Given the description of an element on the screen output the (x, y) to click on. 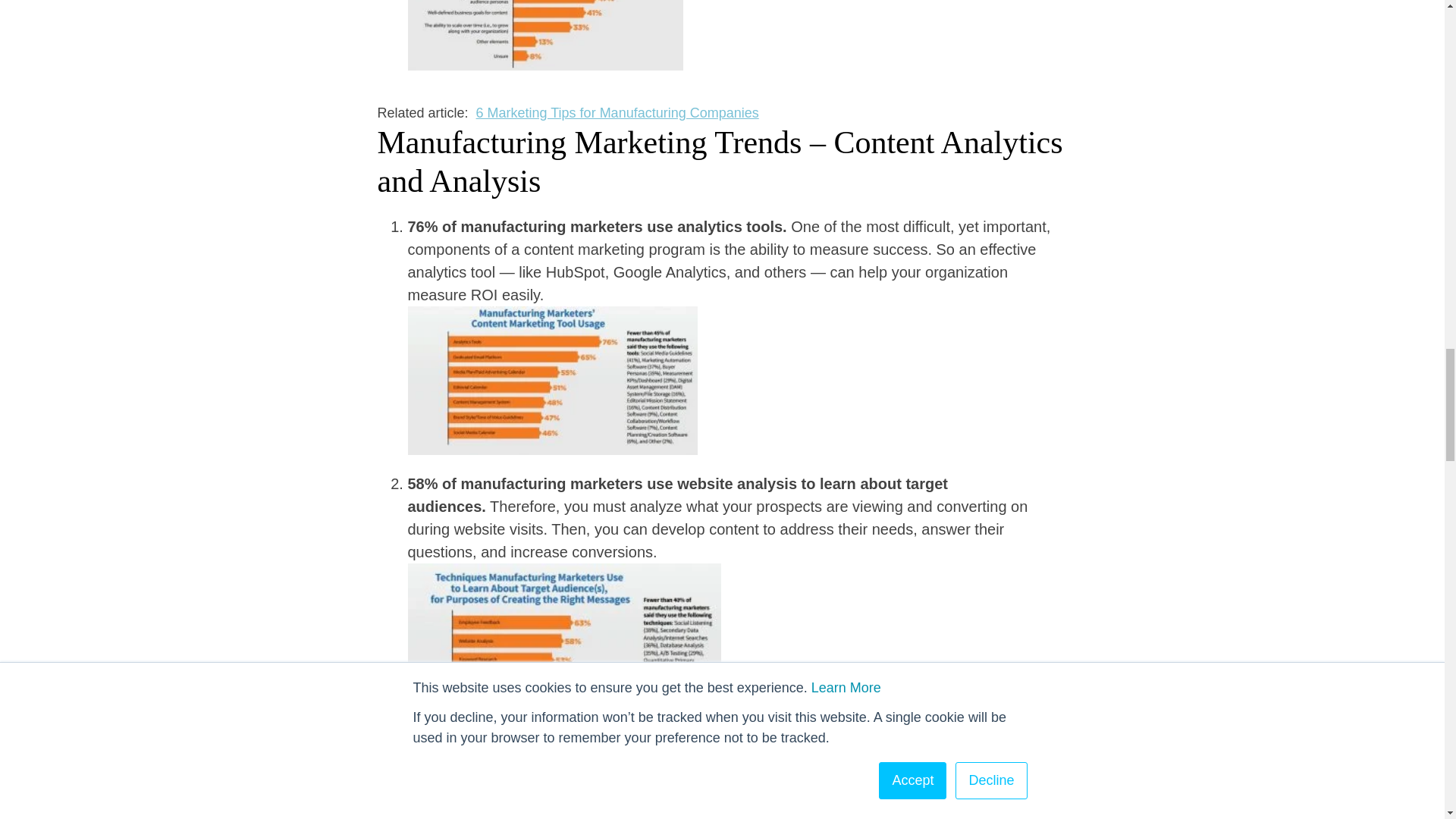
6 Marketing Tips for Manufacturing Companies (617, 112)
Website Metrics Critical to Sales Growth and ROI (625, 766)
